Given the description of an element on the screen output the (x, y) to click on. 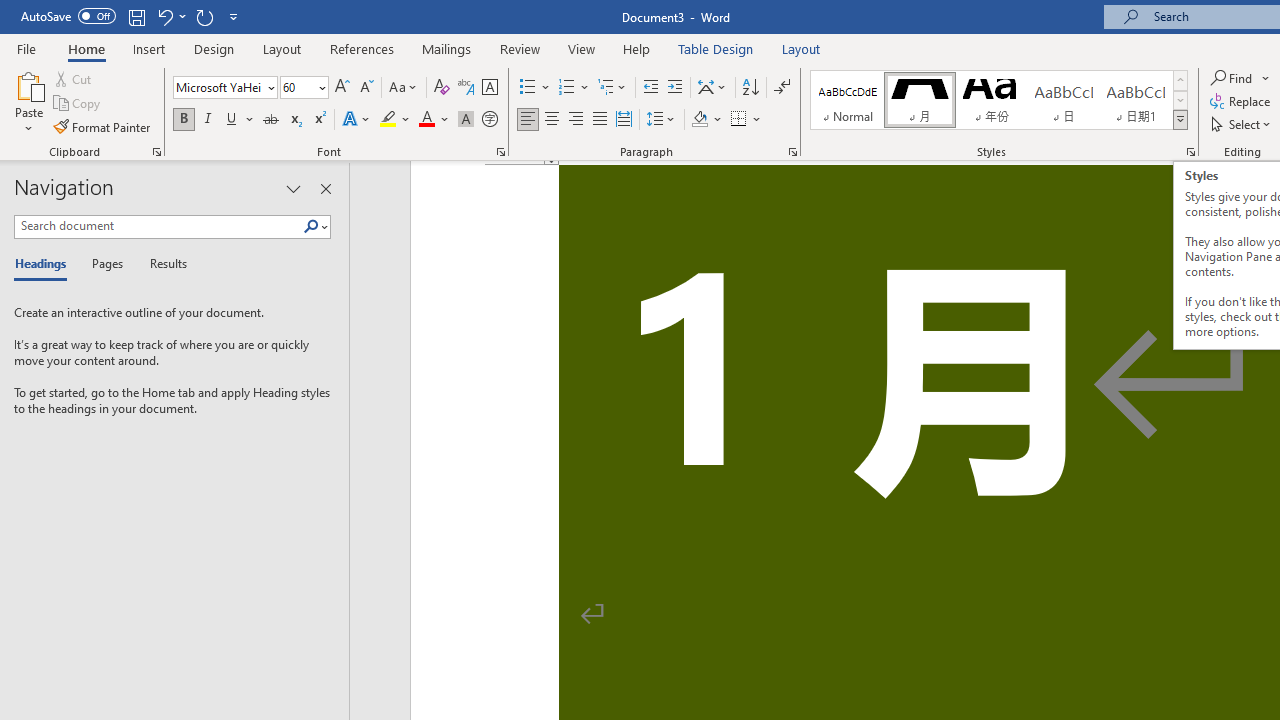
Shading RGB(0, 0, 0) (699, 119)
Row Down (1179, 100)
Asian Layout (712, 87)
Superscript (319, 119)
Replace... (1242, 101)
Styles (1179, 120)
Font Color RGB(255, 0, 0) (426, 119)
Character Shading (465, 119)
Sort... (750, 87)
Review (520, 48)
File Tab (26, 48)
Format Painter (103, 126)
Numbering (566, 87)
Strikethrough (270, 119)
